Given the description of an element on the screen output the (x, y) to click on. 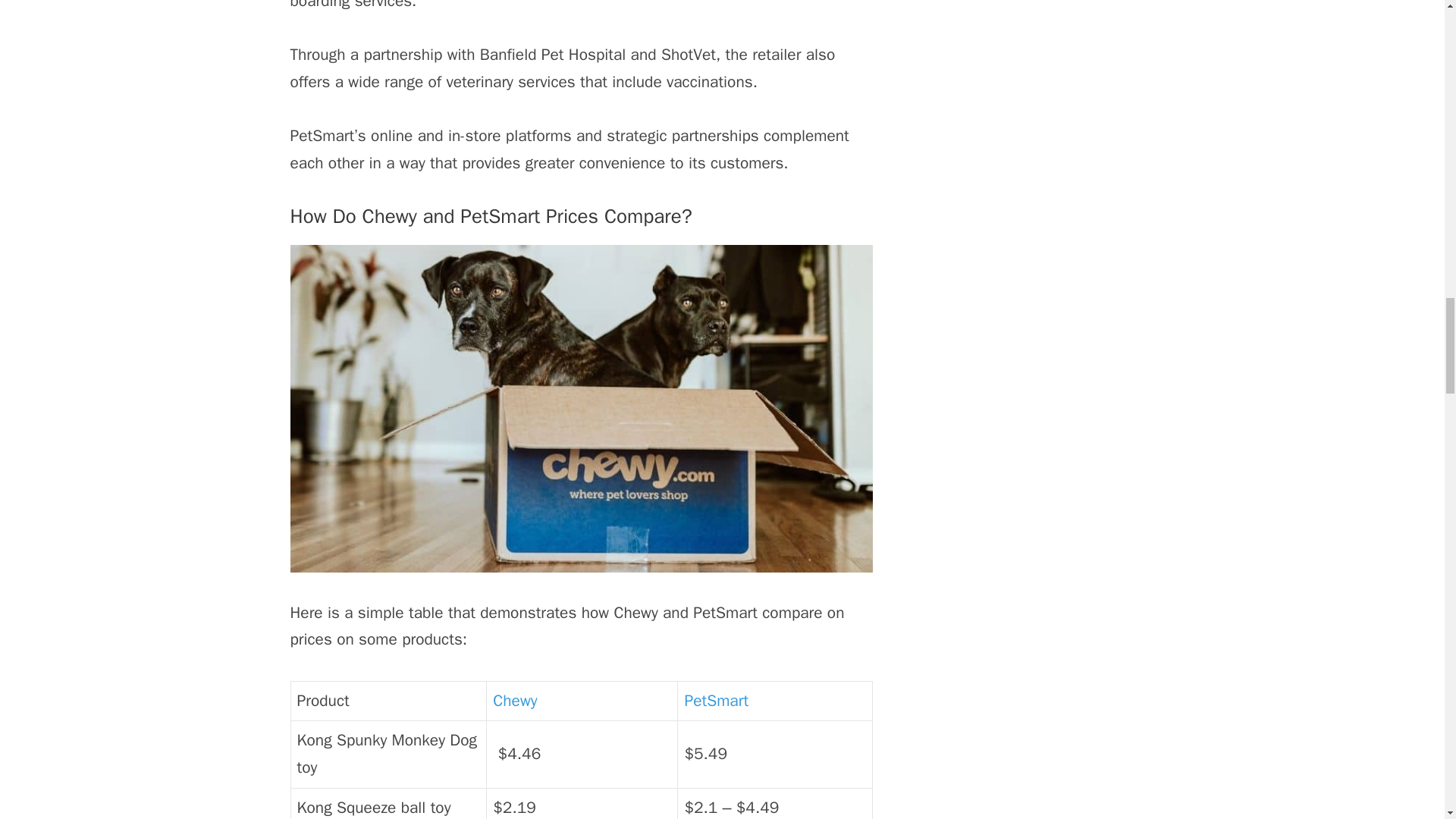
PetSmart (716, 700)
Chewy (515, 700)
